Given the description of an element on the screen output the (x, y) to click on. 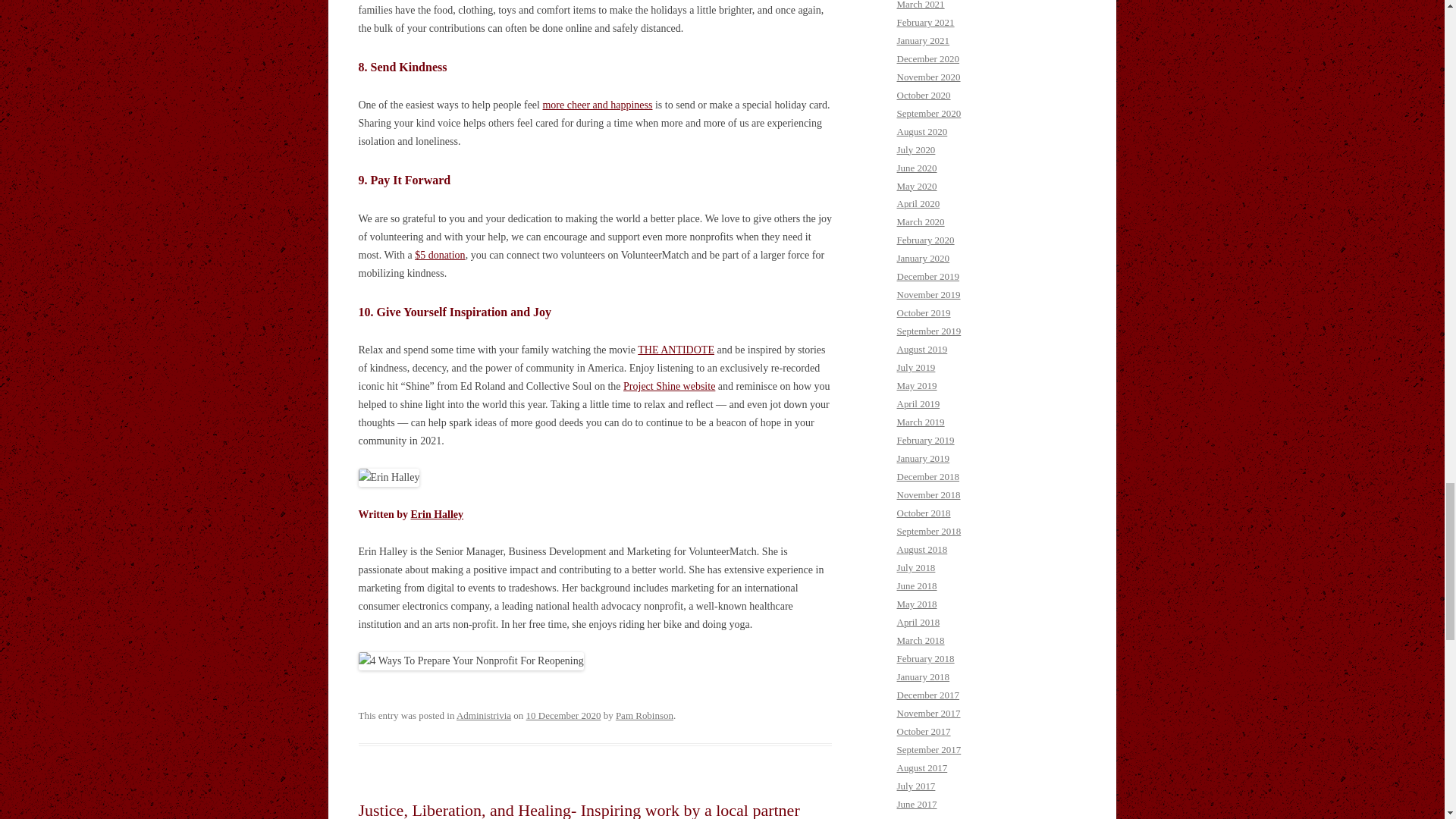
1:38 PM (563, 715)
View all posts by Pam Robinson (643, 715)
